Given the description of an element on the screen output the (x, y) to click on. 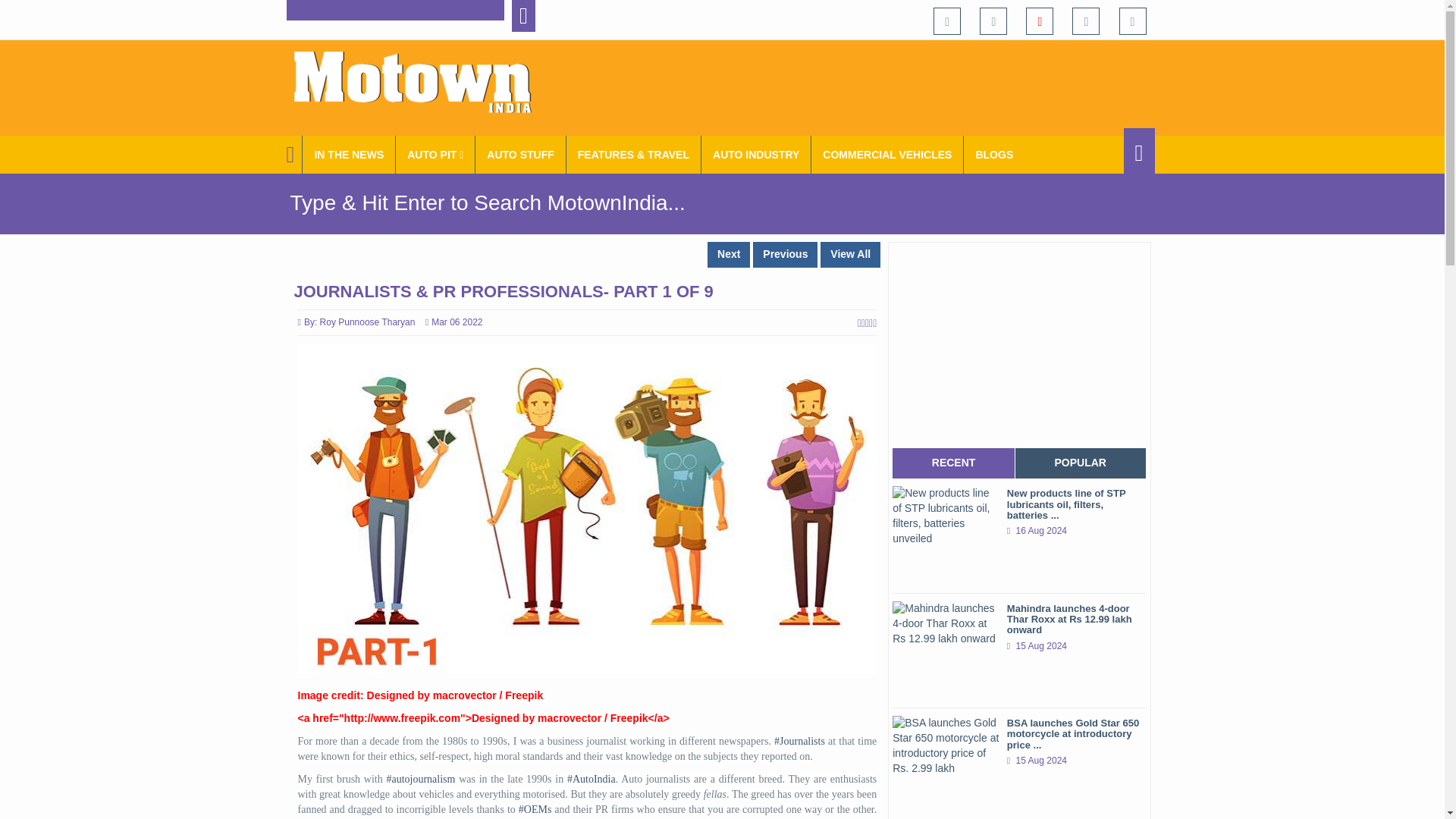
Motown India on YouTube (1039, 21)
IN THE NEWS (349, 154)
COMMERCIAL VEHICLES (886, 154)
View All Auto-Pit - Motown India (436, 154)
BLOGS (994, 154)
View All (850, 254)
Previous (784, 254)
Motown India on Facebook (946, 21)
Motown India on Instagram (1085, 21)
View All In The News - Motown India (349, 154)
